Given the description of an element on the screen output the (x, y) to click on. 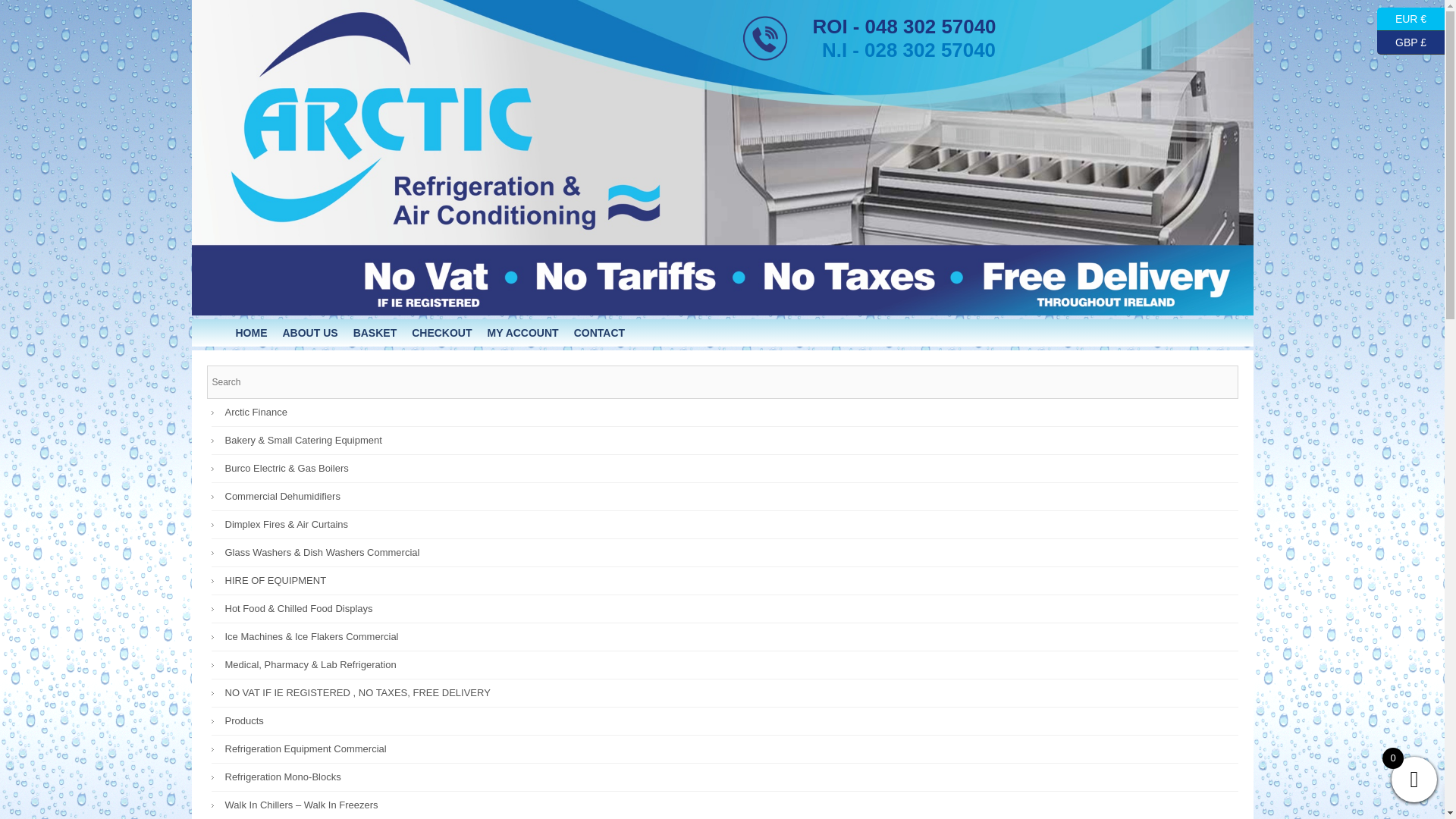
ROI - 048 302 57040 (903, 26)
Refrigeration Equipment Commercial (730, 748)
CONTACT (598, 332)
BASKET (375, 332)
ABOUT US (310, 332)
CHECKOUT (441, 332)
Refrigeration Mono-Blocks (730, 777)
Arctic Finance (730, 411)
HOME (251, 332)
MY ACCOUNT (523, 332)
Products (730, 720)
HIRE OF EQUIPMENT (730, 580)
NO VAT IF IE REGISTERED , NO TAXES, FREE DELIVERY (730, 692)
N.I - 028 302 57040 (908, 50)
Commercial Dehumidifiers (730, 496)
